Given the description of an element on the screen output the (x, y) to click on. 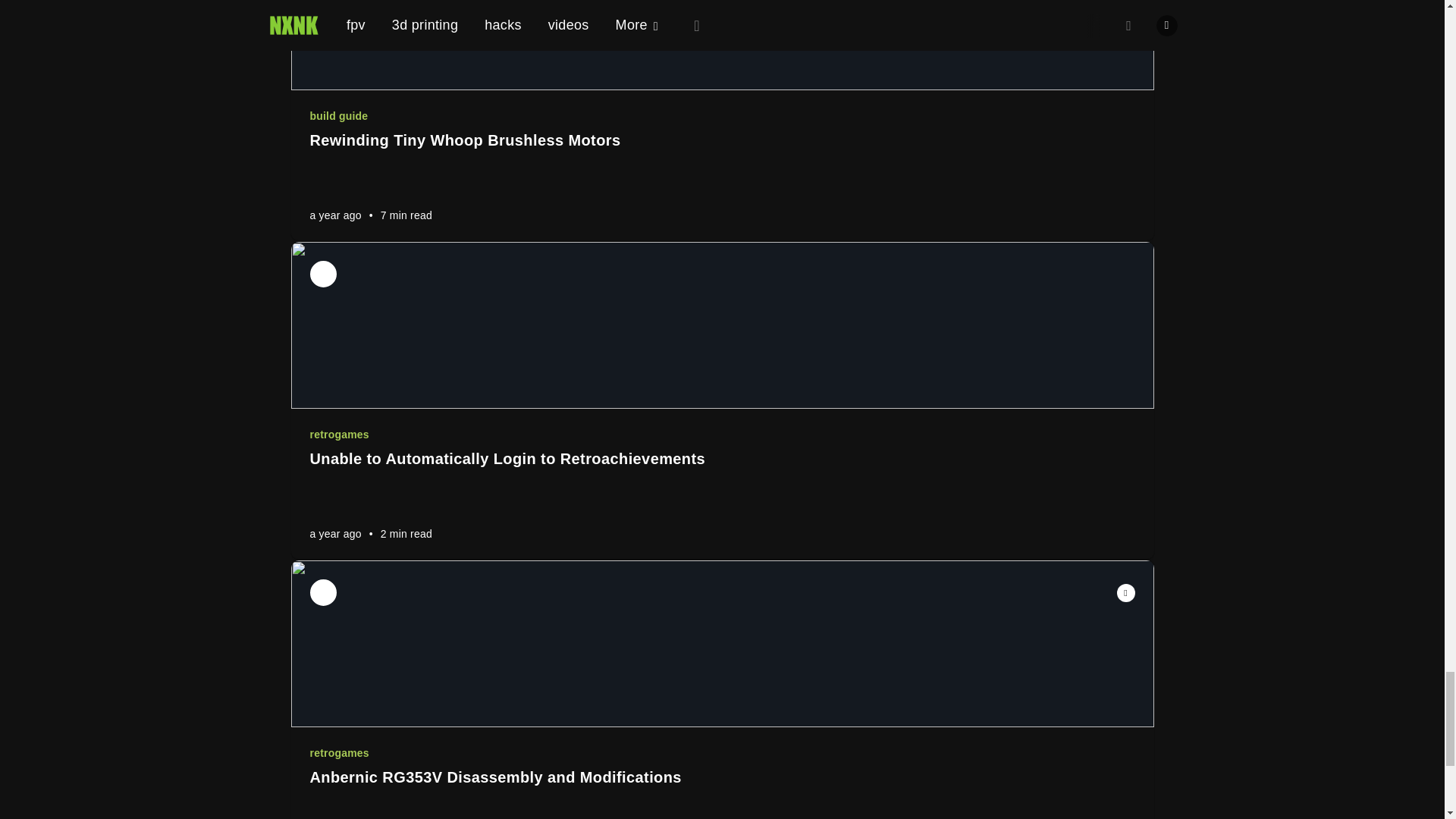
Unable to Automatically Login to Retroachievements (721, 458)
Anbernic RG353V Disassembly and Modifications (721, 777)
Rewinding Tiny Whoop Brushless Motors (721, 139)
